Given the description of an element on the screen output the (x, y) to click on. 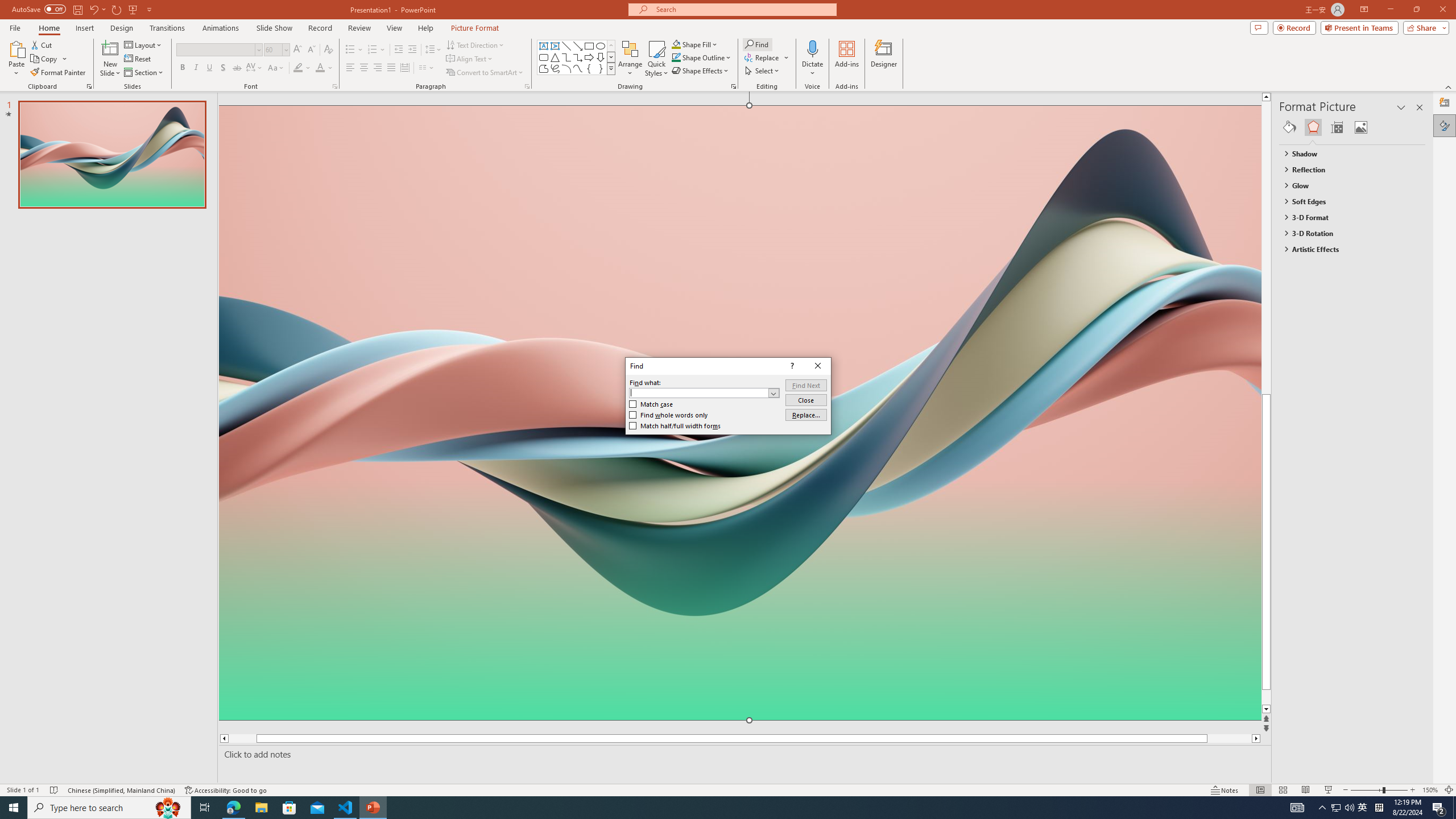
Class: NetUIGalleryContainer (1352, 126)
Shape Outline Blue, Accent 1 (675, 56)
Format Painter (58, 72)
Increase Indent (412, 49)
